Given the description of an element on the screen output the (x, y) to click on. 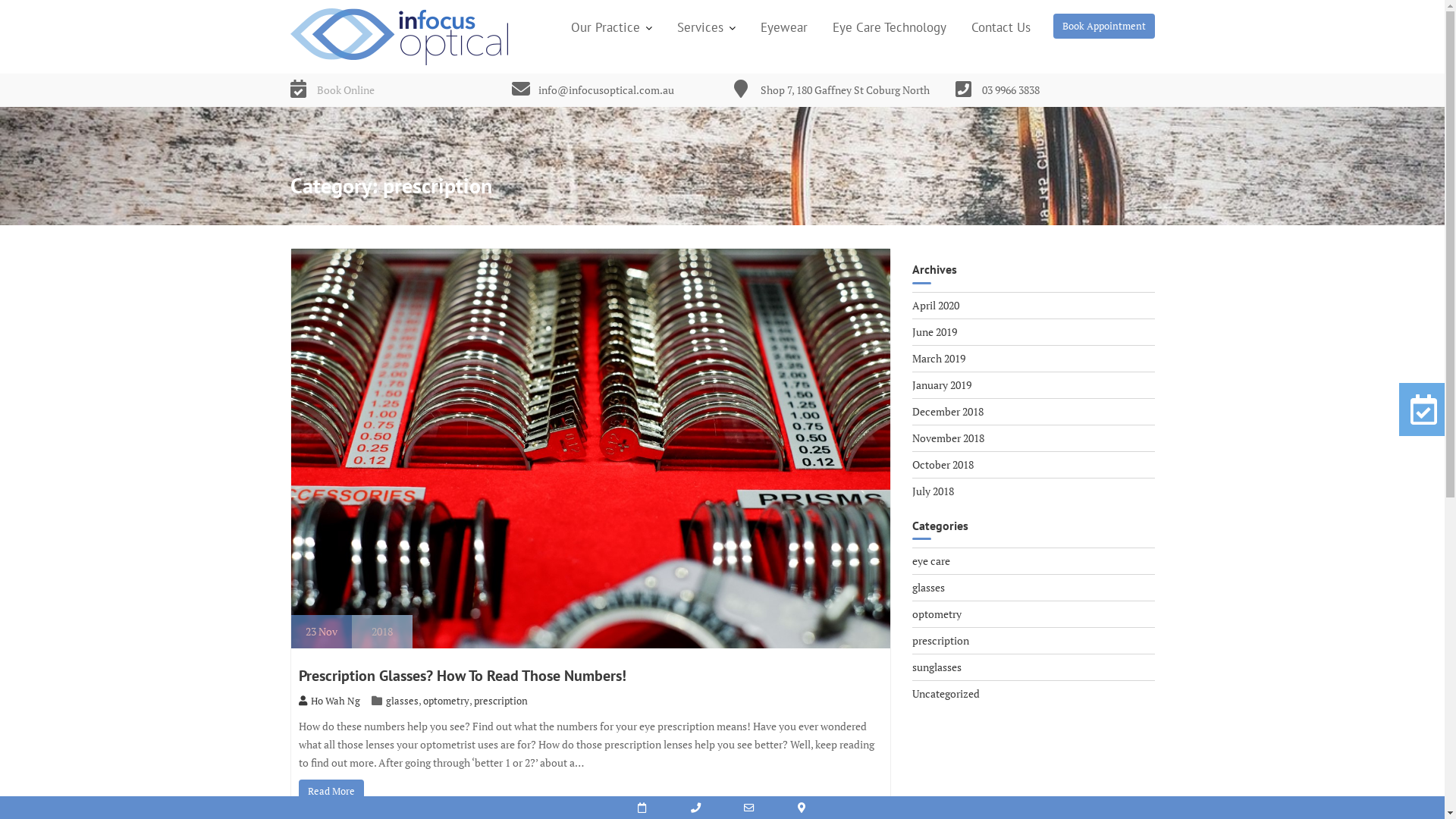
prescription Element type: text (940, 640)
prescription Element type: text (500, 700)
Book Appointment Element type: text (1103, 25)
glasses Element type: text (928, 587)
Prescription Glasses? How To Read Those Numbers! Element type: text (462, 675)
Our Practice Element type: text (611, 27)
optometry Element type: text (446, 700)
Ho Wah Ng Element type: text (329, 700)
December 2018 Element type: text (947, 411)
January 2019 Element type: text (941, 384)
eye care Element type: text (931, 560)
Eyewear Element type: text (784, 27)
July 2018 Element type: text (932, 490)
April 2020 Element type: text (935, 305)
optometry Element type: text (936, 613)
glasses Element type: text (401, 700)
Services Element type: text (705, 27)
November 2018 Element type: text (948, 437)
March 2019 Element type: text (938, 358)
Read More Element type: text (331, 791)
Contact Us Element type: text (1000, 27)
Book Online Element type: text (345, 89)
sunglasses Element type: text (936, 666)
Eye Care Technology Element type: text (888, 27)
Uncategorized Element type: text (945, 693)
October 2018 Element type: text (942, 464)
June 2019 Element type: text (934, 331)
